Given the description of an element on the screen output the (x, y) to click on. 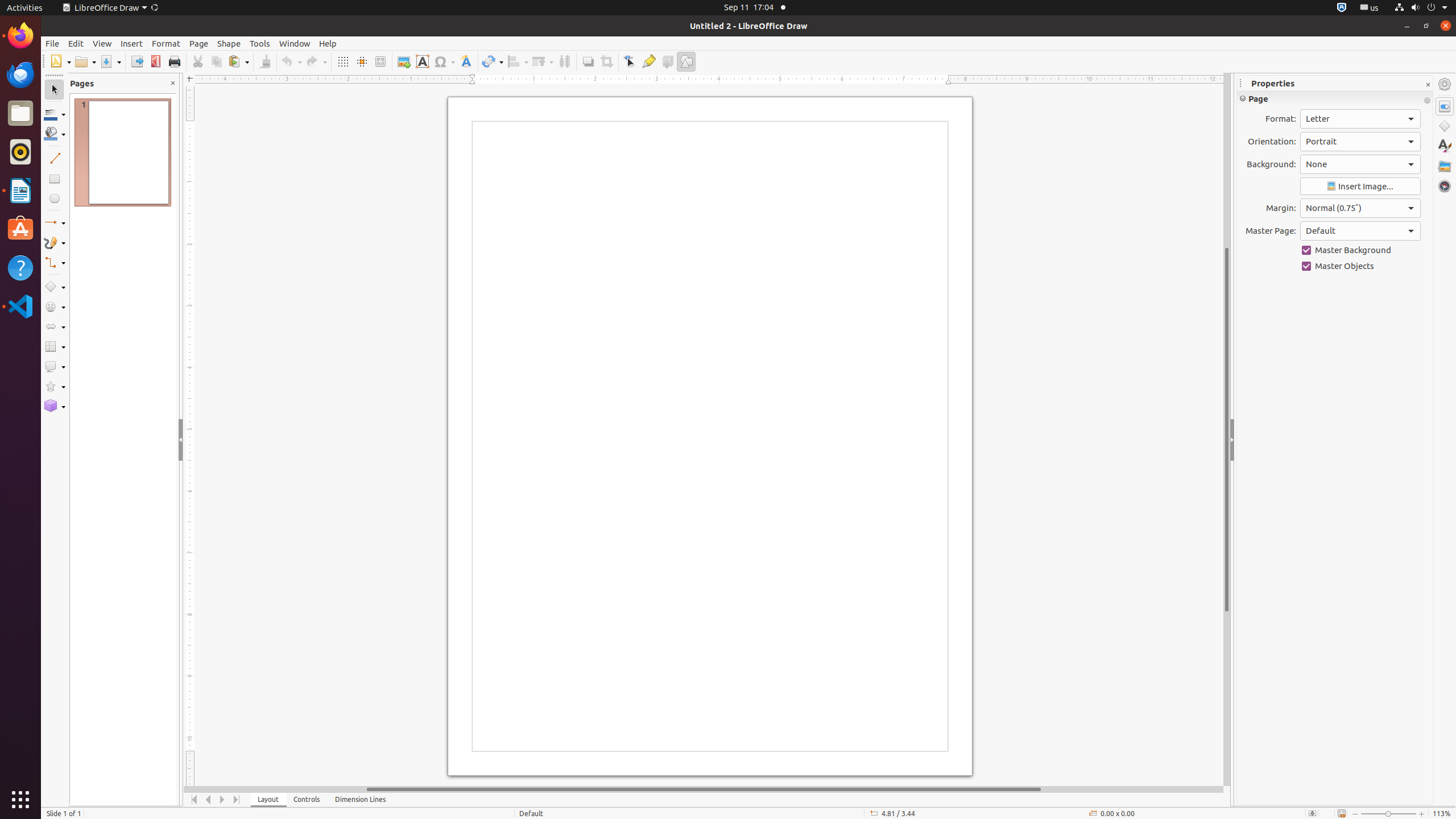
Slide Element type: panel (1334, 192)
Copy Element type: push-button (216, 61)
Format Element type: menu (165, 43)
